Given the description of an element on the screen output the (x, y) to click on. 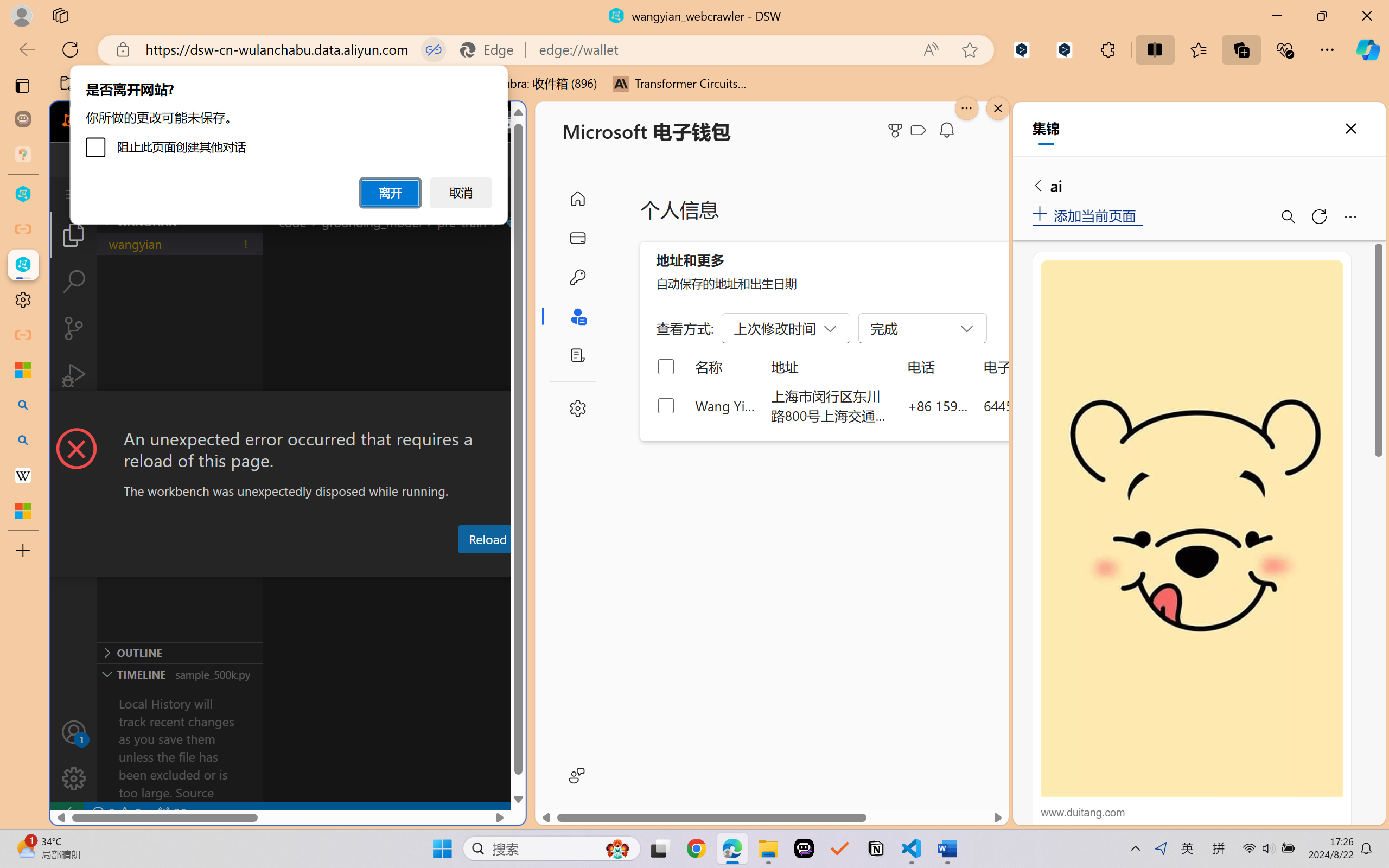
Run and Debug (Ctrl+Shift+D) (73, 375)
+86 159 0032 4640 (938, 405)
Problems (Ctrl+Shift+M) (308, 565)
Debug Console (Ctrl+Shift+Y) (463, 565)
Manage (73, 778)
Reload (486, 538)
Accounts - Sign in requested (73, 732)
Class: ___1lmltc5 f1agt3bx f12qytpq (917, 130)
No Problems (115, 812)
